Given the description of an element on the screen output the (x, y) to click on. 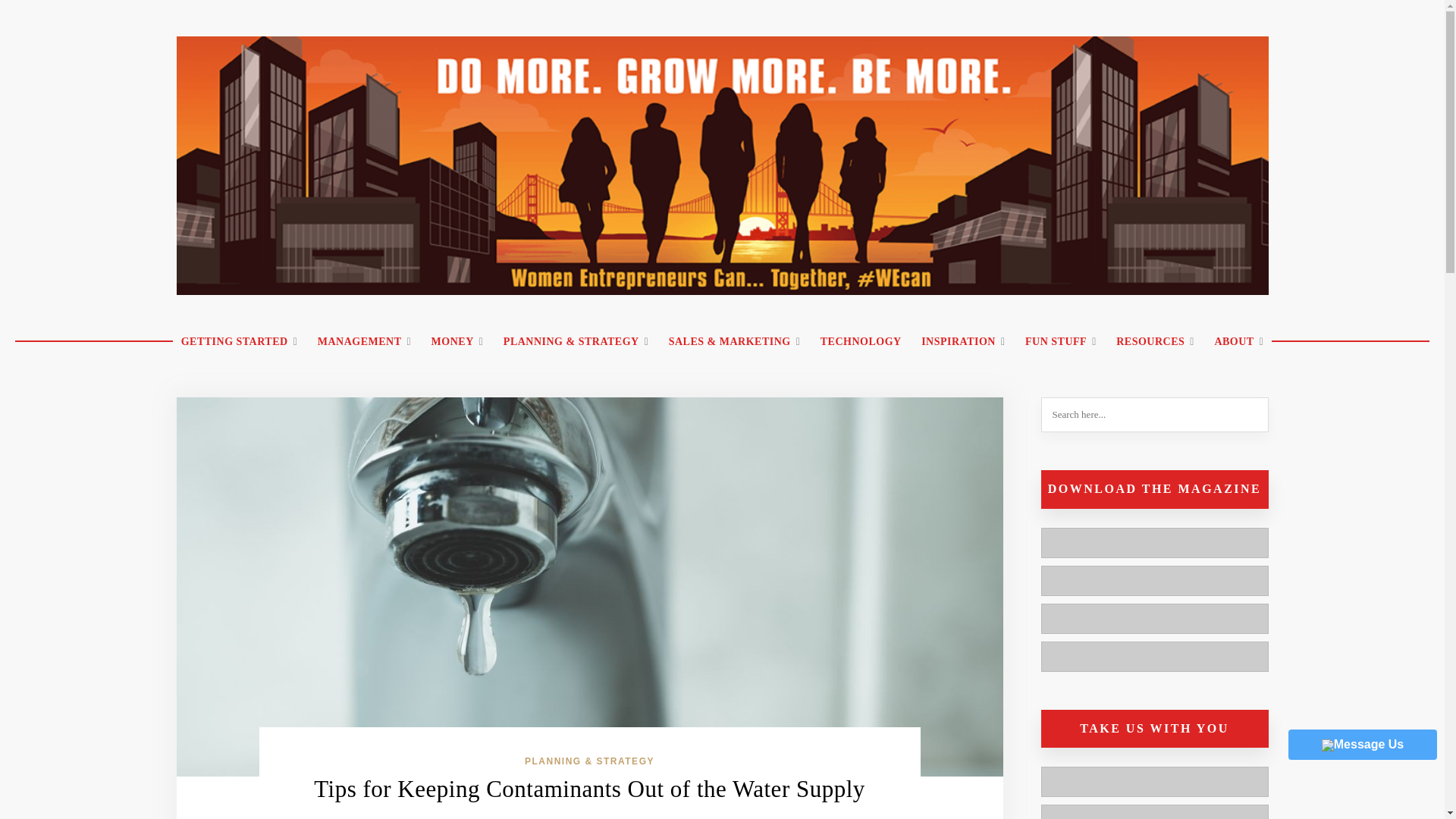
INSPIRATION (962, 341)
MANAGEMENT (363, 341)
TECHNOLOGY (861, 341)
GETTING STARTED (239, 341)
FUN STUFF (1060, 341)
MONEY (456, 341)
